Given the description of an element on the screen output the (x, y) to click on. 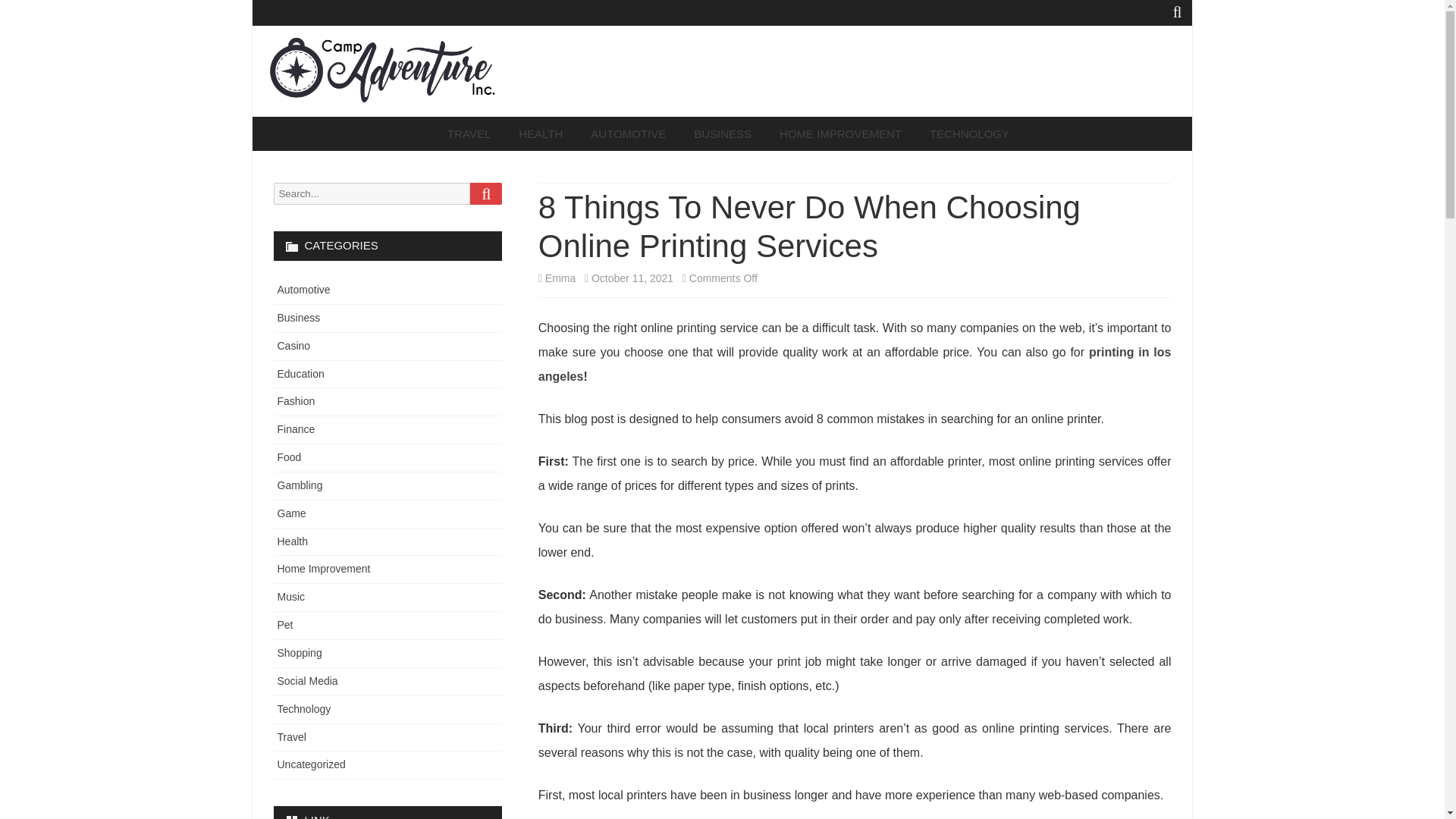
Camp Adventure Inc (396, 119)
Casino (294, 345)
Pet (286, 624)
Search for: (371, 193)
Emma (559, 277)
Education (301, 373)
Music (291, 596)
Gambling (300, 485)
Search (486, 193)
